Given the description of an element on the screen output the (x, y) to click on. 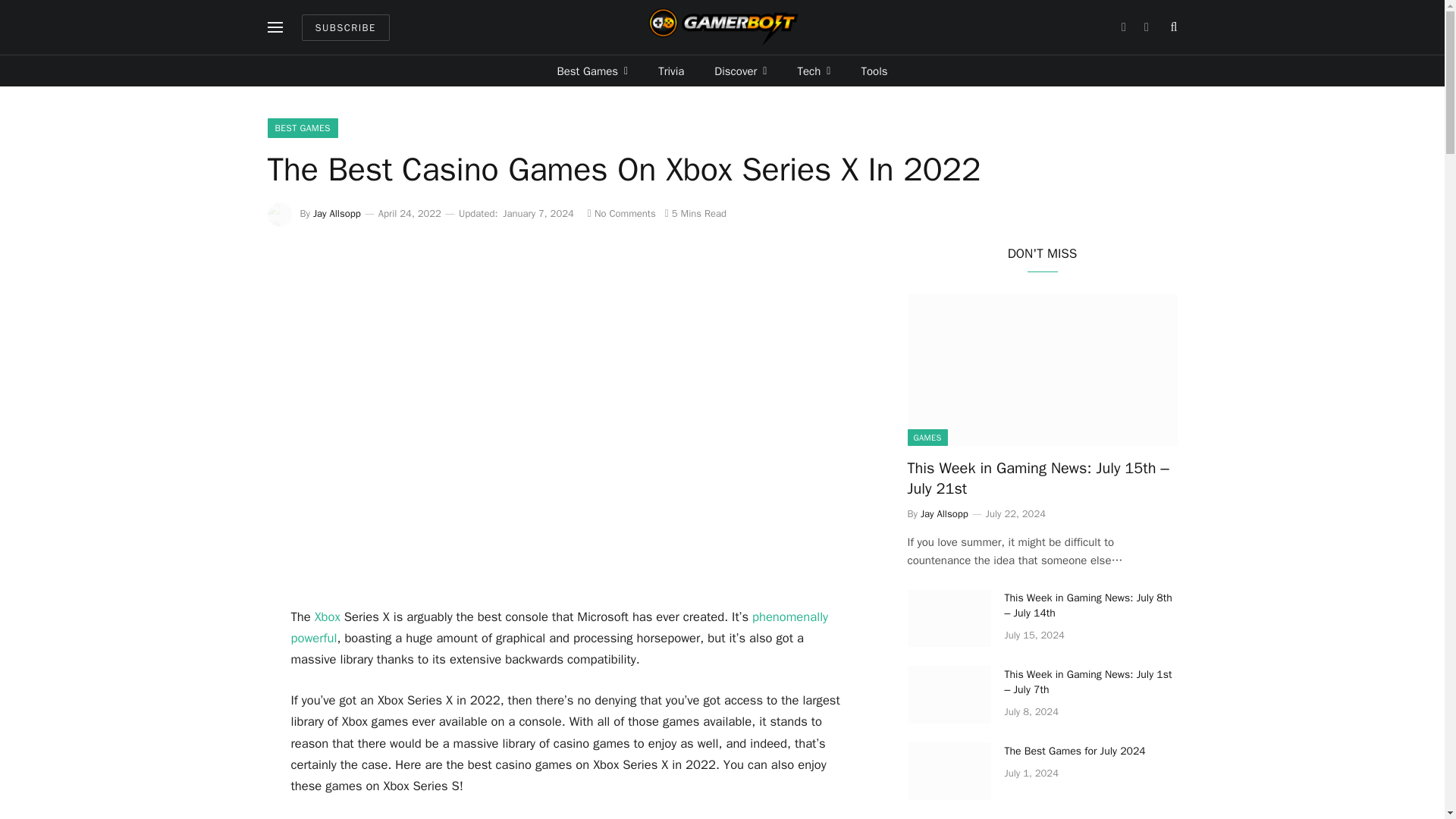
Discover (739, 70)
SUBSCRIBE (345, 26)
Search (1172, 27)
Facebook (1122, 27)
Trivia (670, 70)
Best Games (592, 70)
